Given the description of an element on the screen output the (x, y) to click on. 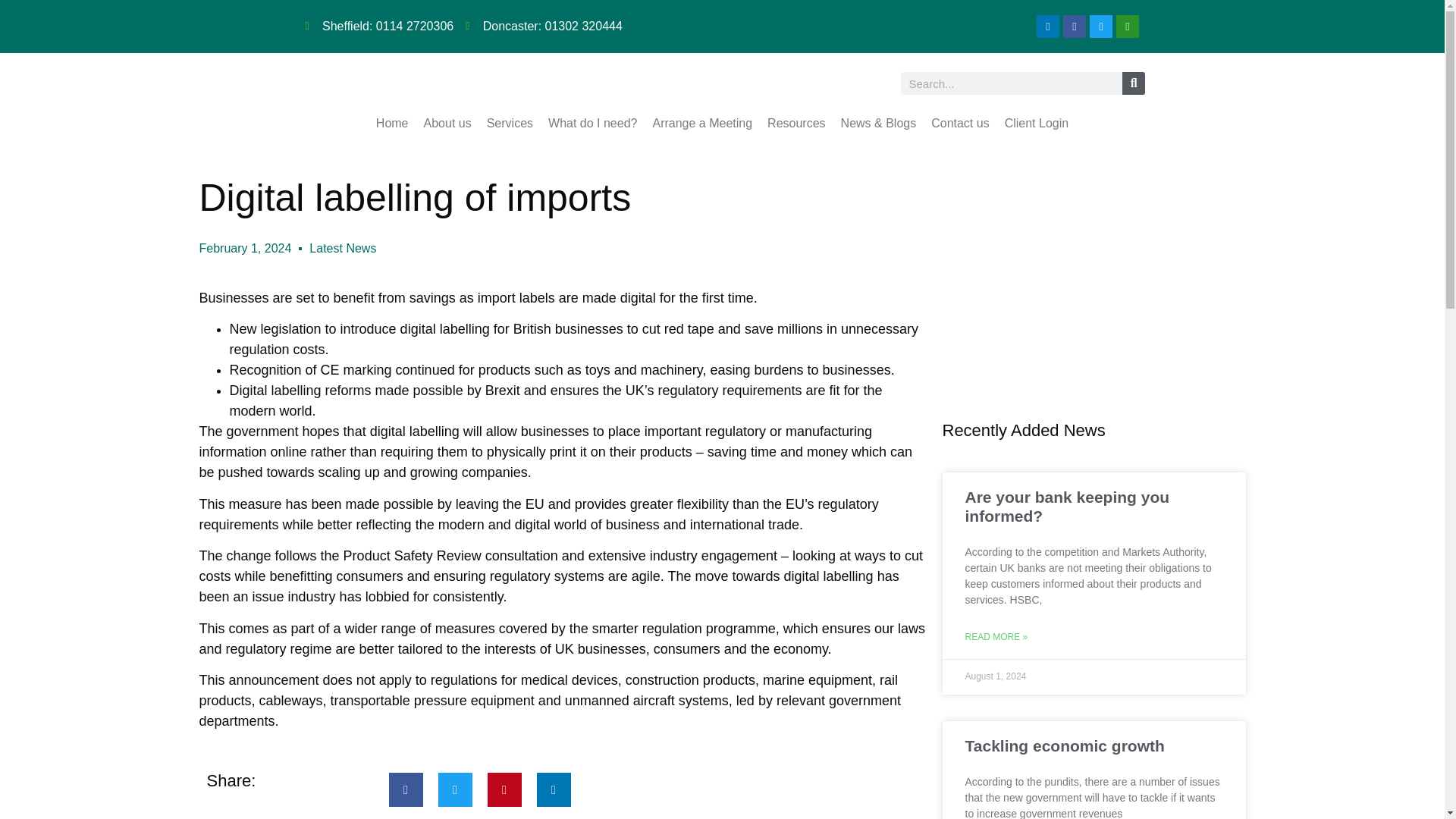
Doncaster: 01302 320444 (544, 26)
Sheffield: 0114 2720306 (378, 26)
